Given the description of an element on the screen output the (x, y) to click on. 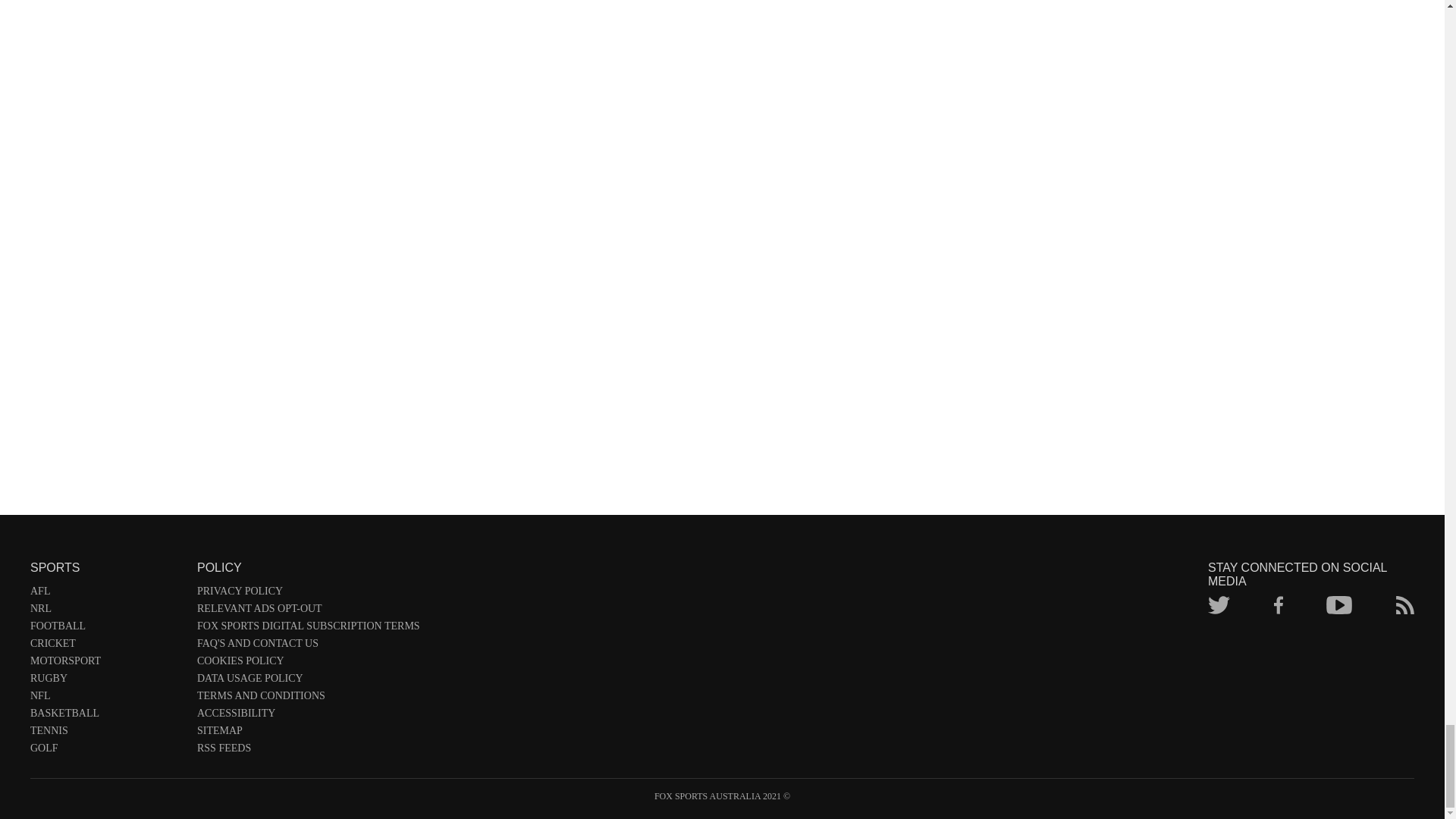
FOX SPORTS DIGITAL SUBSCRIPTION TERMS (308, 628)
DATA USAGE POLICY (308, 681)
BASKETBALL (106, 715)
SITEMAP (308, 733)
NRL (106, 610)
TENNIS (106, 733)
COOKIES POLICY (308, 663)
FOOTBALL (106, 628)
AFL (106, 593)
GOLF (106, 751)
